Given the description of an element on the screen output the (x, y) to click on. 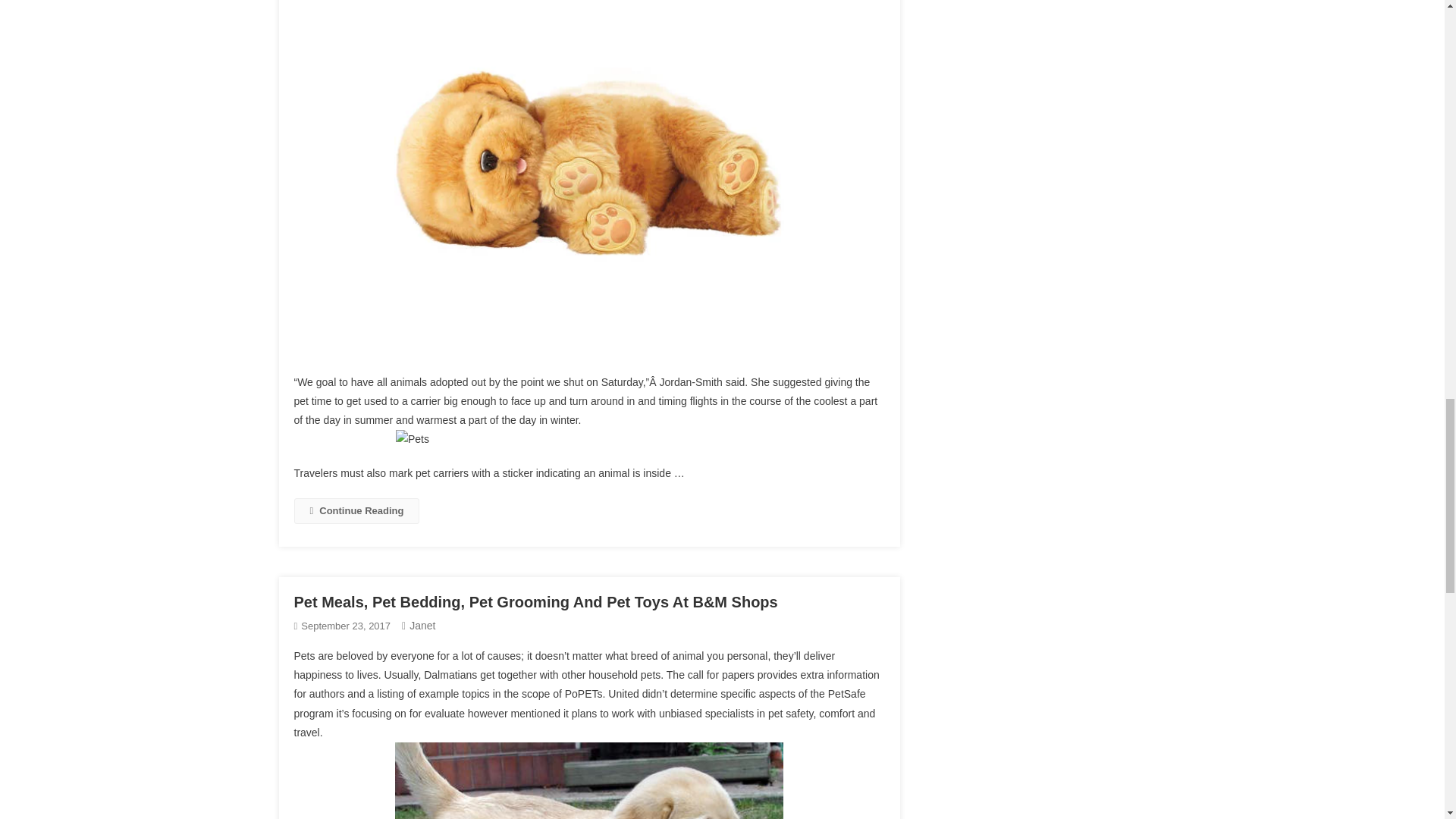
Continue Reading (357, 510)
September 23, 2017 (345, 625)
Janet (422, 625)
